Given the description of an element on the screen output the (x, y) to click on. 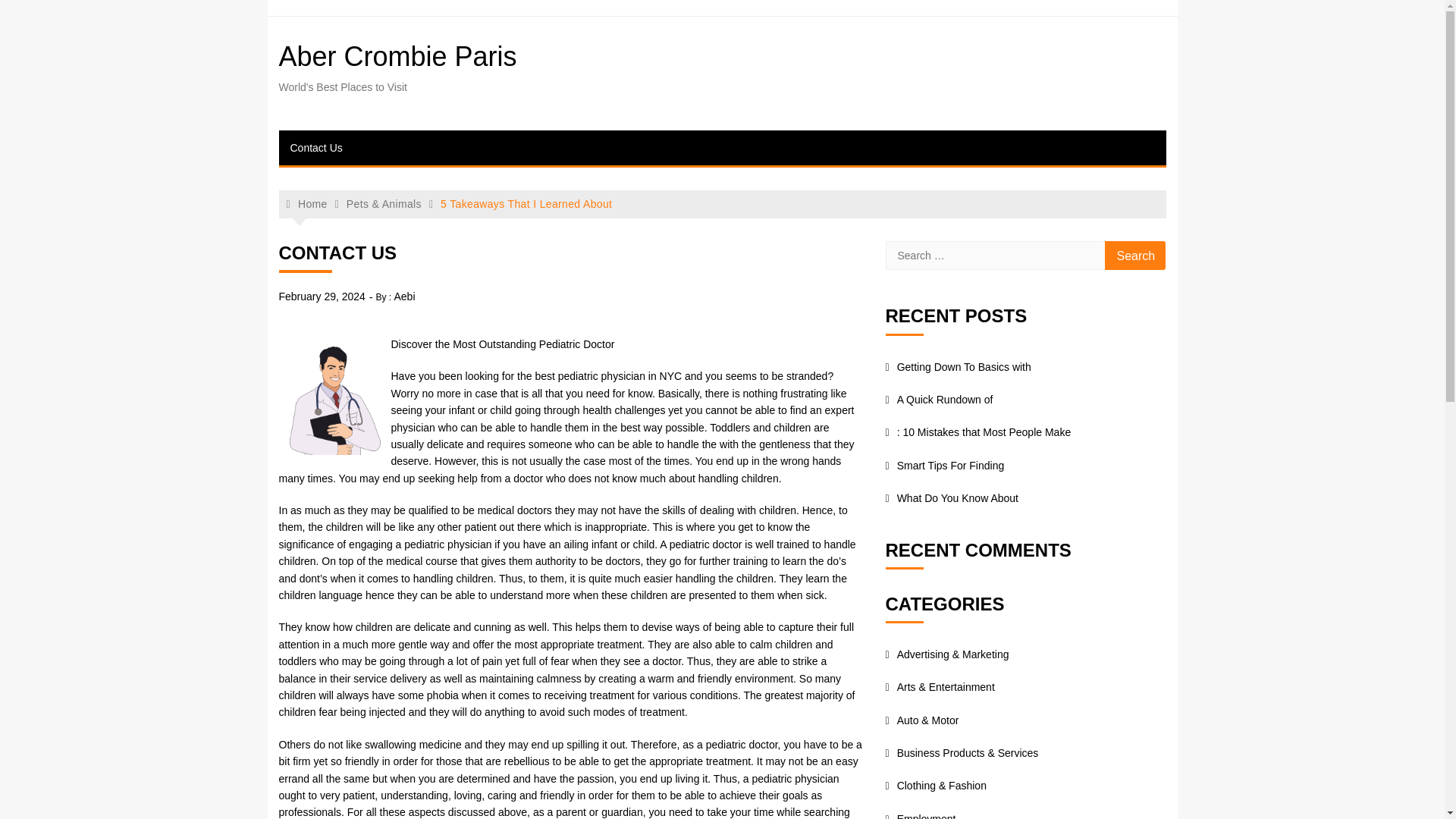
A Quick Rundown of (938, 399)
Aebi (403, 296)
Aber Crombie Paris (397, 56)
Search (1135, 255)
What Do You Know About (951, 498)
Getting Down To Basics with (957, 367)
Smart Tips For Finding (944, 465)
Search (1135, 255)
: 10 Mistakes that Most People Make (978, 431)
February 29, 2024 (322, 296)
Contact Us (316, 147)
Home (306, 203)
Search (1135, 255)
